Given the description of an element on the screen output the (x, y) to click on. 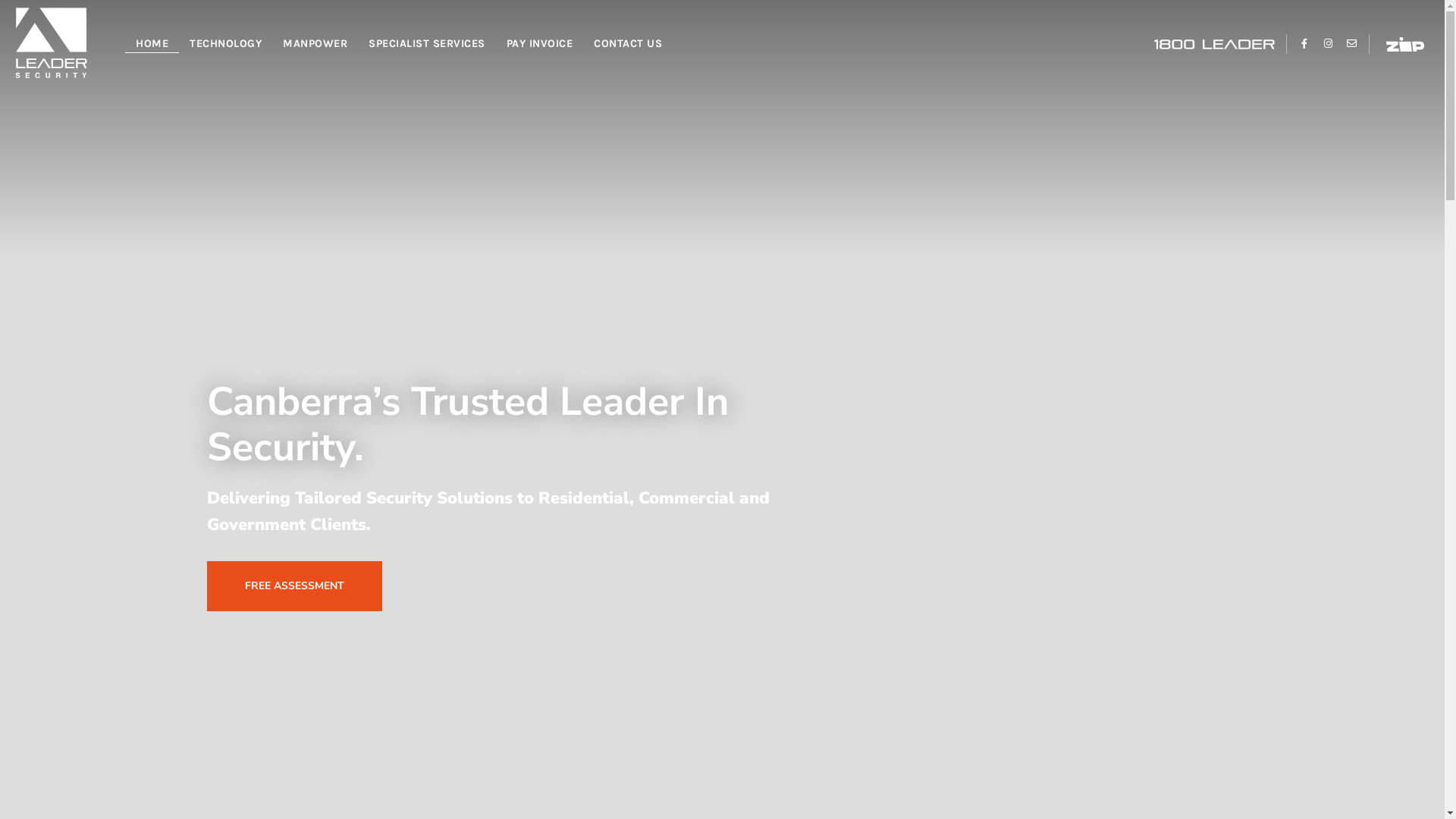
CONTACT US Element type: text (627, 43)
MANPOWER Element type: text (314, 43)
TECHNOLOGY Element type: text (225, 43)
HOME Element type: text (151, 43)
PAY INVOICE Element type: text (539, 43)
FREE ASSESSMENT Element type: text (293, 586)
SPECIALIST SERVICES Element type: text (426, 43)
